Given the description of an element on the screen output the (x, y) to click on. 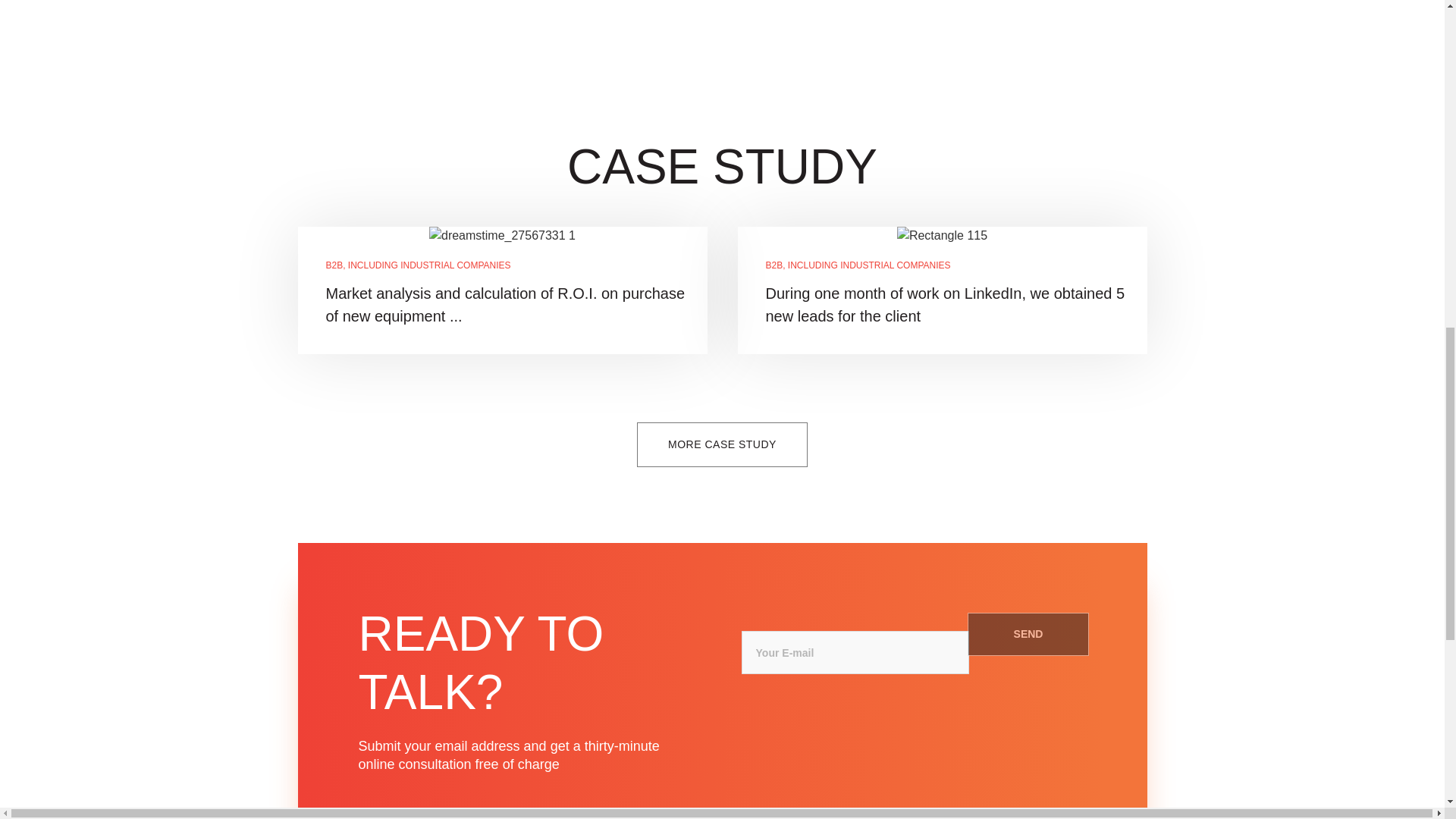
SEND (1028, 634)
Rectangle 115 (941, 235)
MORE CASE STUDY (722, 444)
